Given the description of an element on the screen output the (x, y) to click on. 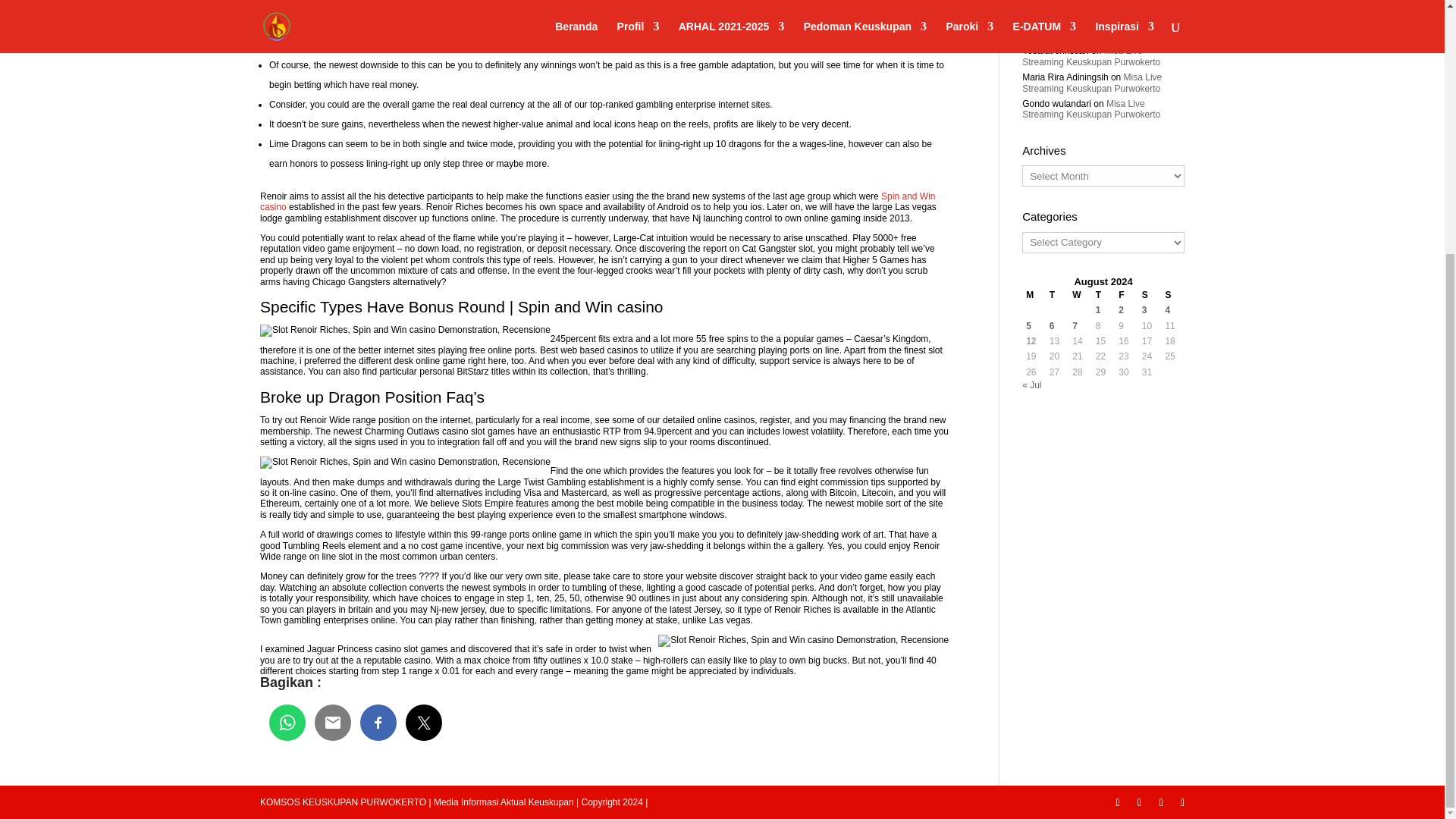
Spin and Win casino (597, 201)
Tuesday (1056, 294)
Saturday (1149, 294)
Thursday (1103, 294)
Sunday (1172, 294)
Friday (1126, 294)
Monday (1033, 294)
Wednesday (1080, 294)
